Given the description of an element on the screen output the (x, y) to click on. 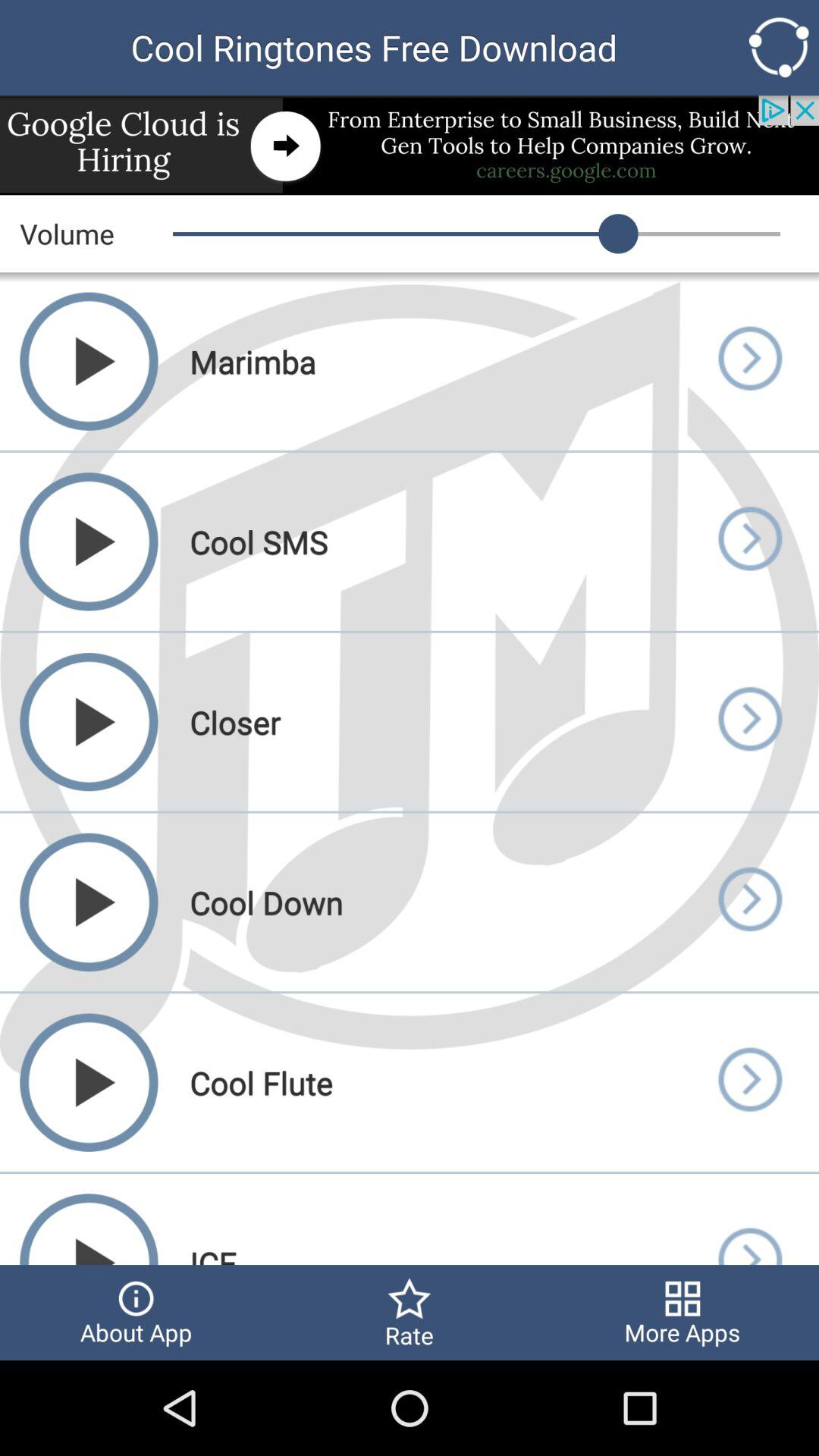
open track info (749, 1218)
